Given the description of an element on the screen output the (x, y) to click on. 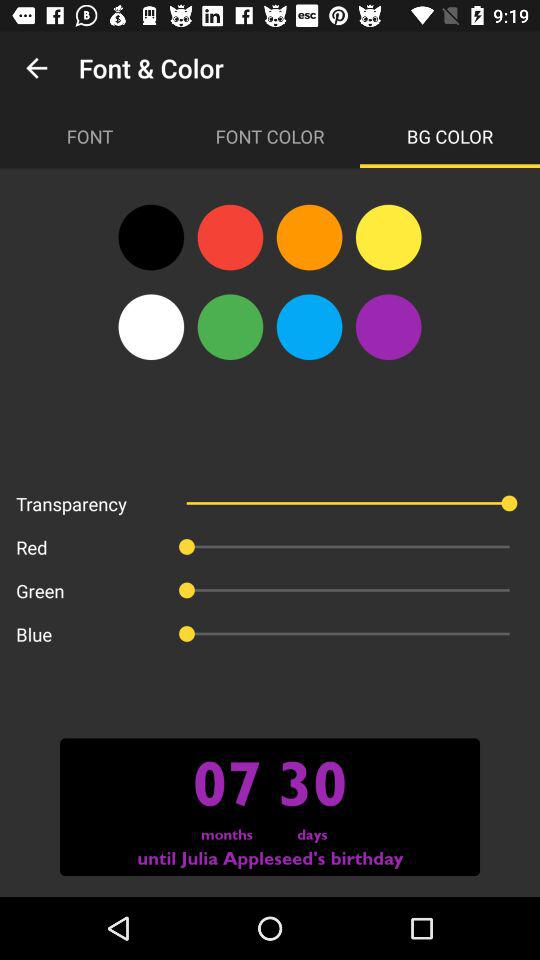
select the item below font (151, 237)
